Given the description of an element on the screen output the (x, y) to click on. 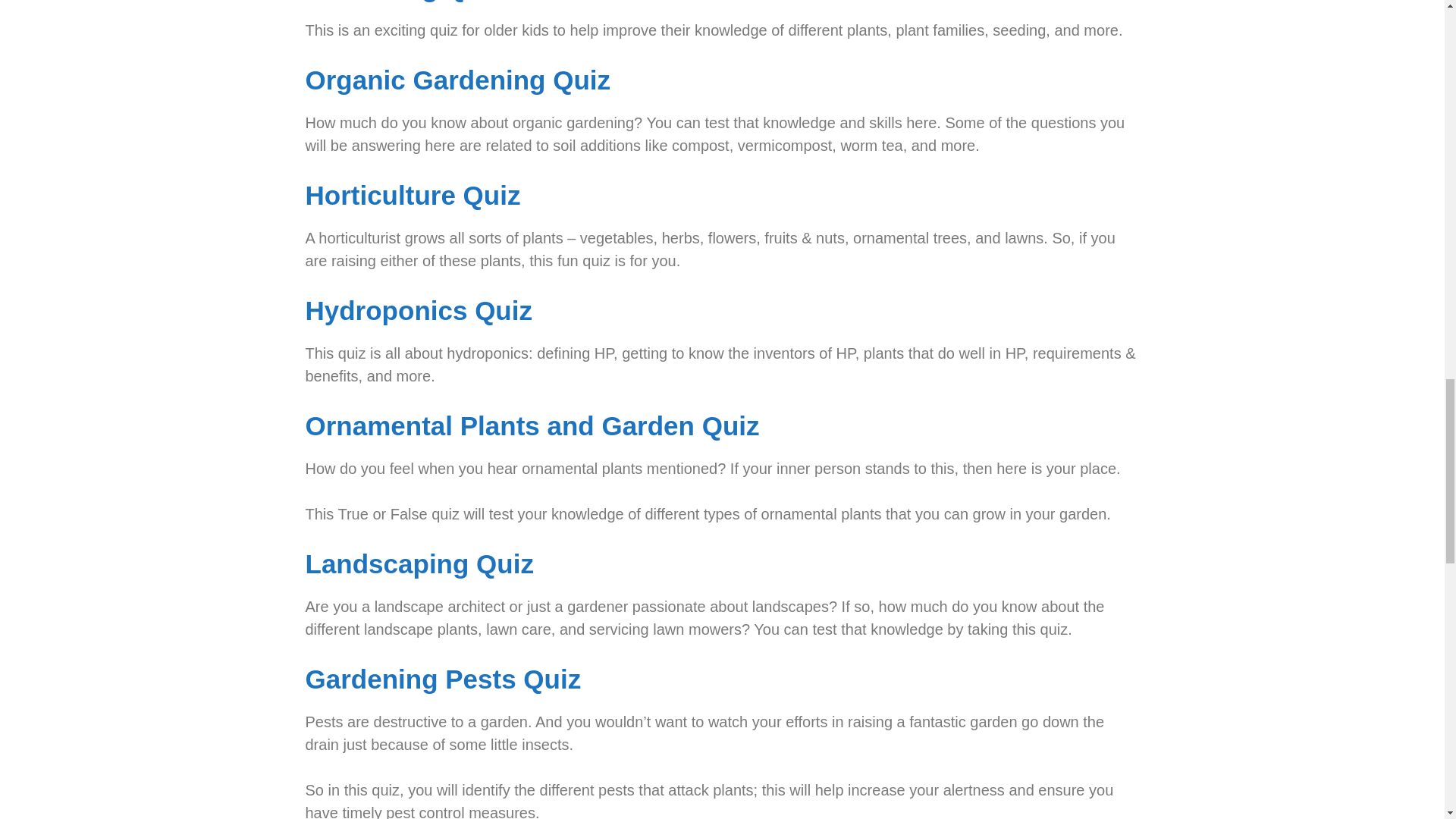
Organic Gardening Quiz (457, 80)
Horticulture Quiz (411, 194)
Hydroponics Quiz (417, 310)
Ornamental Plants and Garden Quiz (531, 425)
Landscaping Quiz (418, 563)
